Given the description of an element on the screen output the (x, y) to click on. 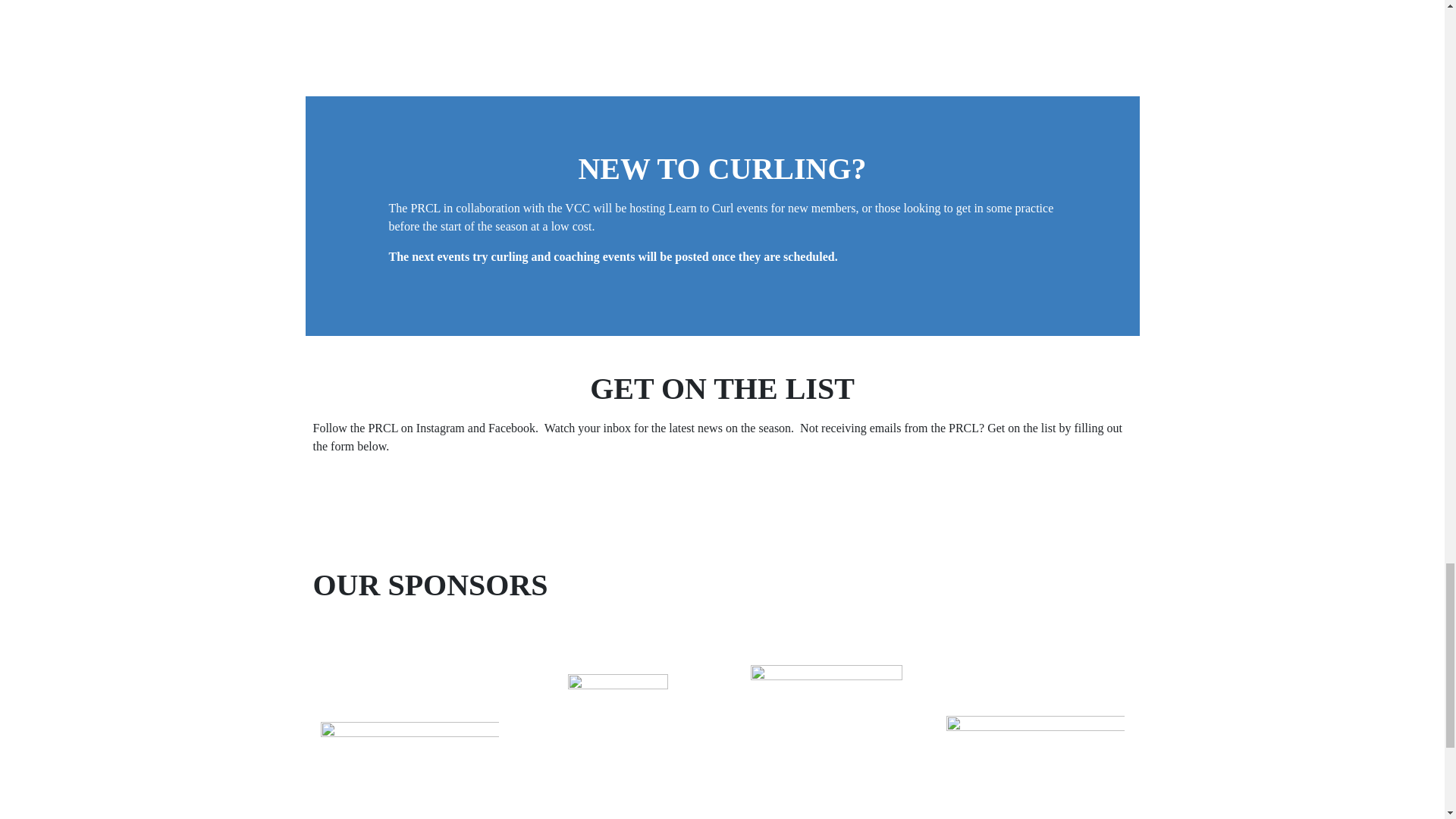
Hillcrest Centre Vancouver BC (930, 2)
